Given the description of an element on the screen output the (x, y) to click on. 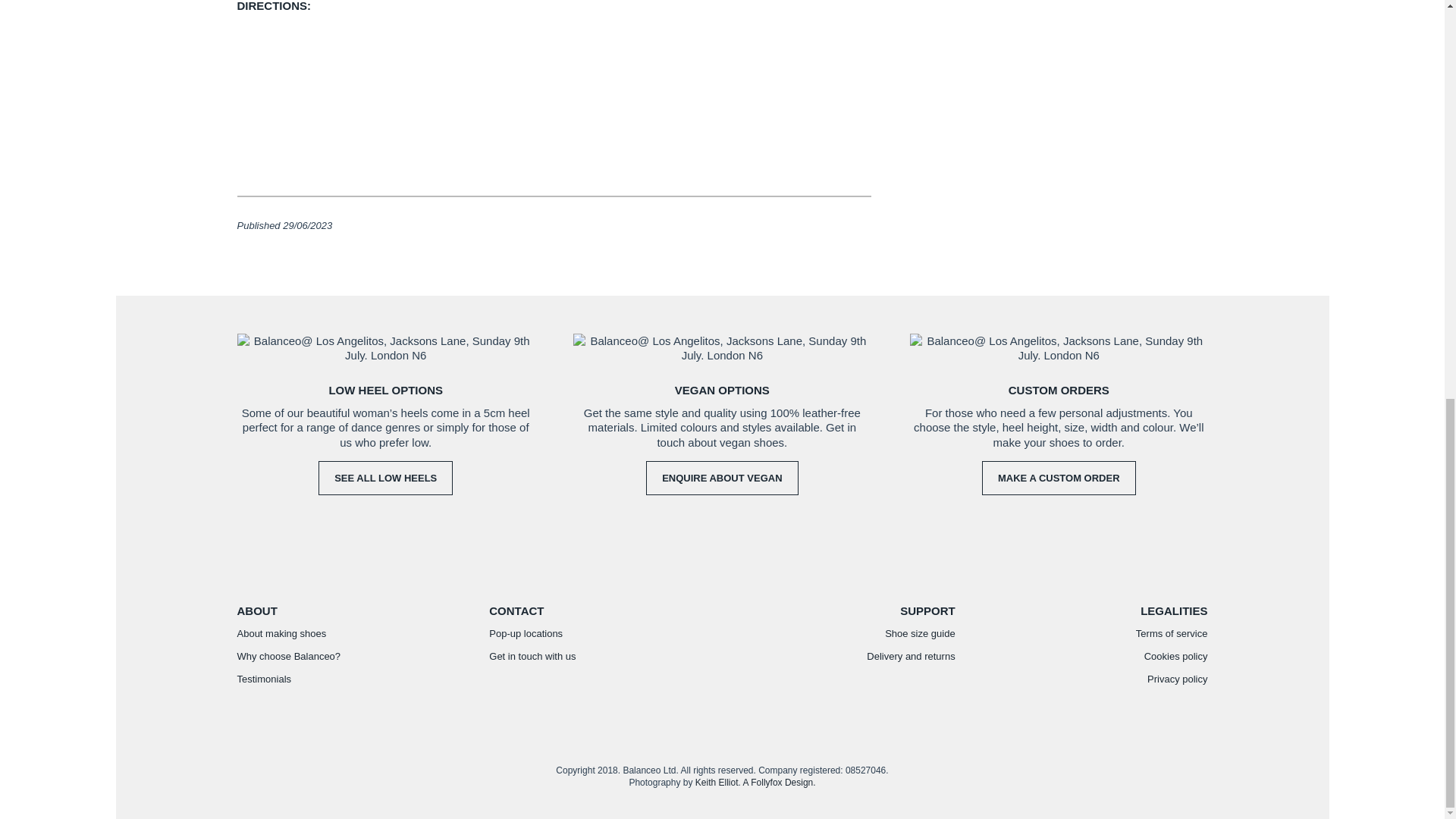
Pop-up locations (525, 633)
ENQUIRE ABOUT VEGAN (721, 478)
MAKE A CUSTOM ORDER (1058, 478)
Why choose Balanceo? (287, 655)
Cookies policy (1176, 655)
Delivery and returns (910, 655)
Testimonials (263, 678)
A Follyfox Design. (778, 782)
About making shoes (280, 633)
Keith Elliot (716, 782)
